Given the description of an element on the screen output the (x, y) to click on. 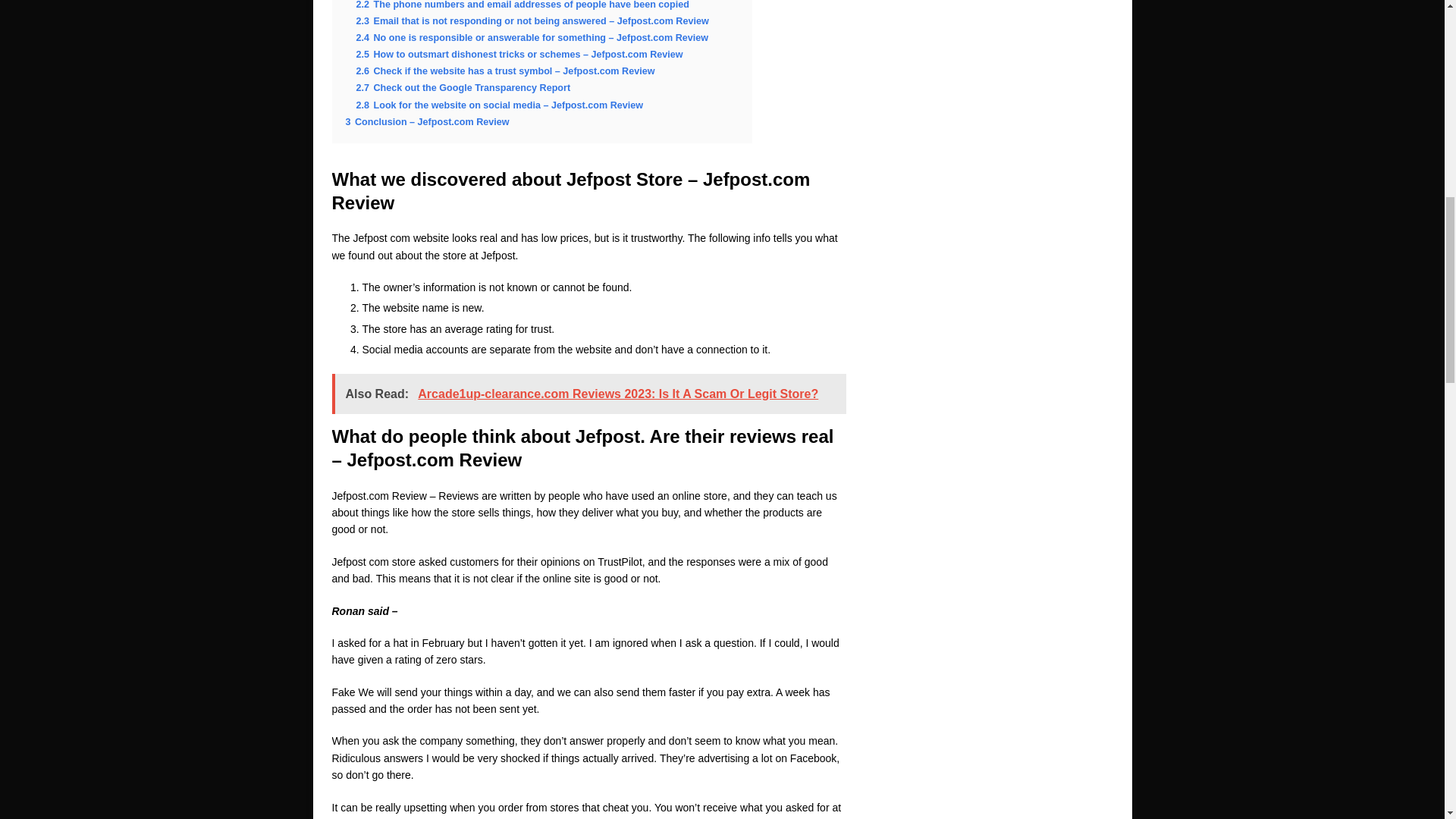
2.7 Check out the Google Transparency Report (463, 87)
